Given the description of an element on the screen output the (x, y) to click on. 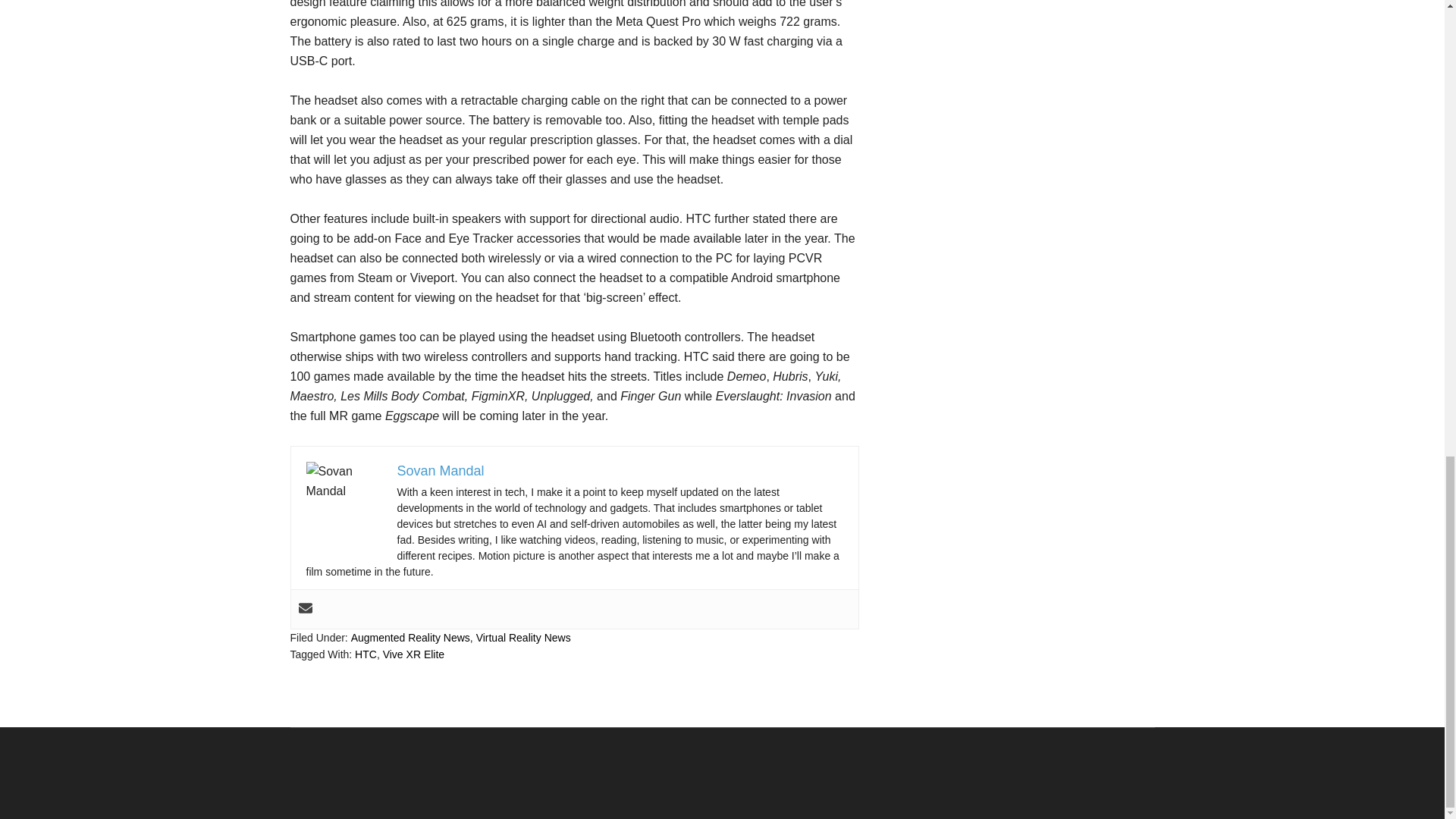
HTC (366, 654)
Sovan Mandal (440, 470)
Virtual Reality News (523, 637)
Vive XR Elite (413, 654)
Augmented Reality News (410, 637)
